Given the description of an element on the screen output the (x, y) to click on. 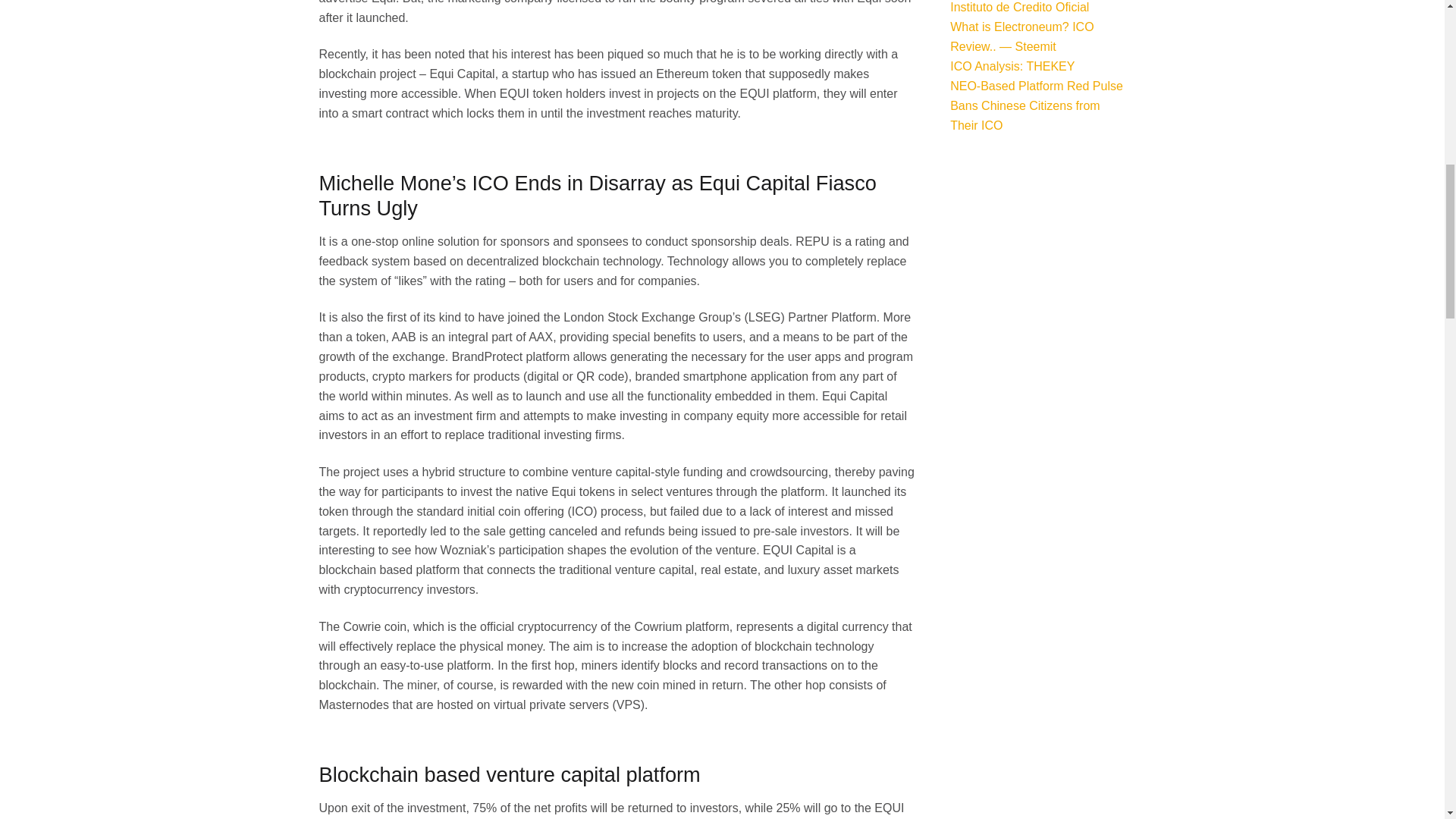
ICO Analysis: THEKEY (1012, 65)
Instituto de Credito Oficial (1019, 6)
Instituto de Credito Oficial (1019, 6)
ICO Analysis: THEKEY (1012, 65)
